Given the description of an element on the screen output the (x, y) to click on. 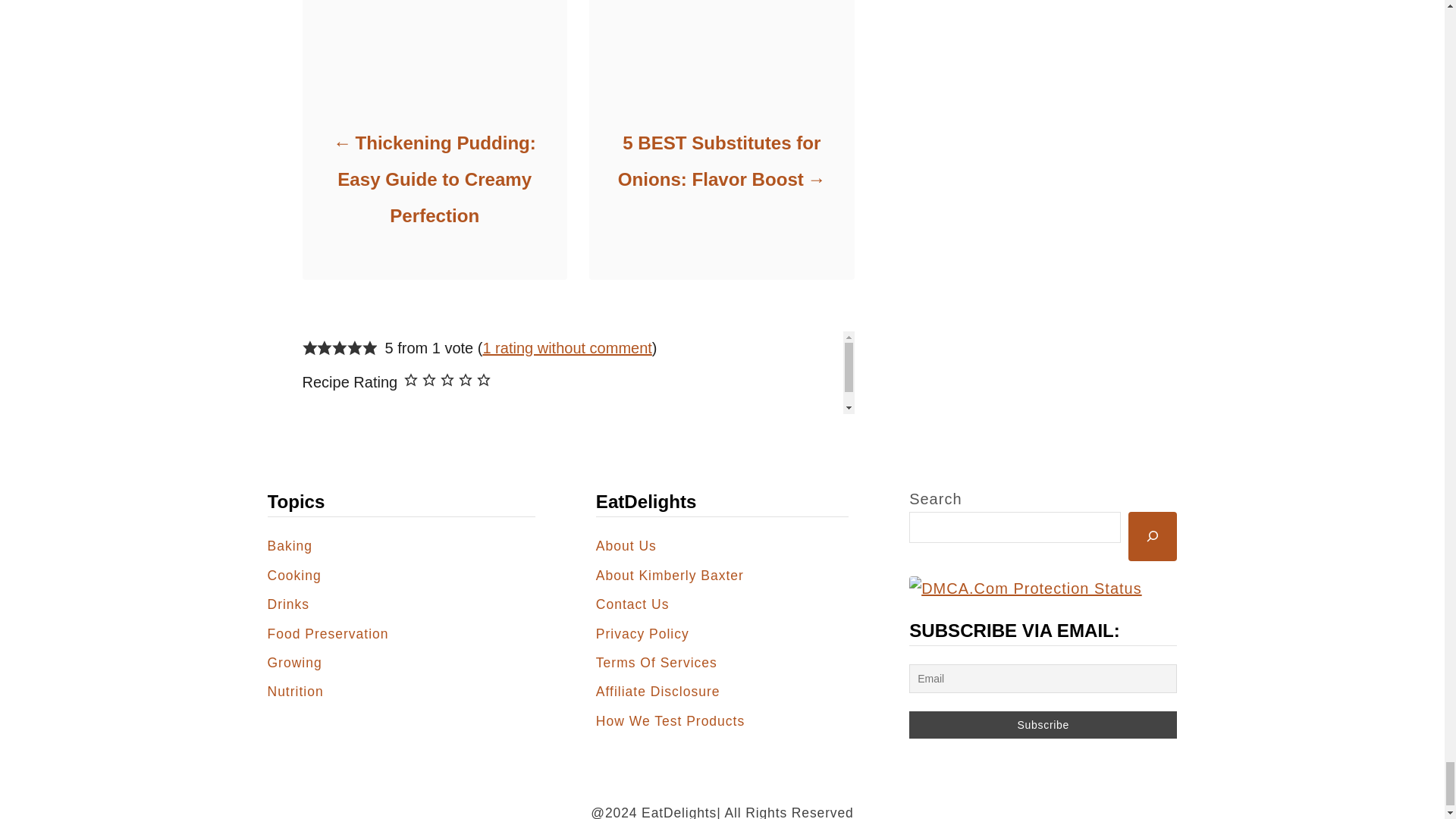
Subscribe (1042, 724)
DMCA.com Protection Status (1042, 587)
